Given the description of an element on the screen output the (x, y) to click on. 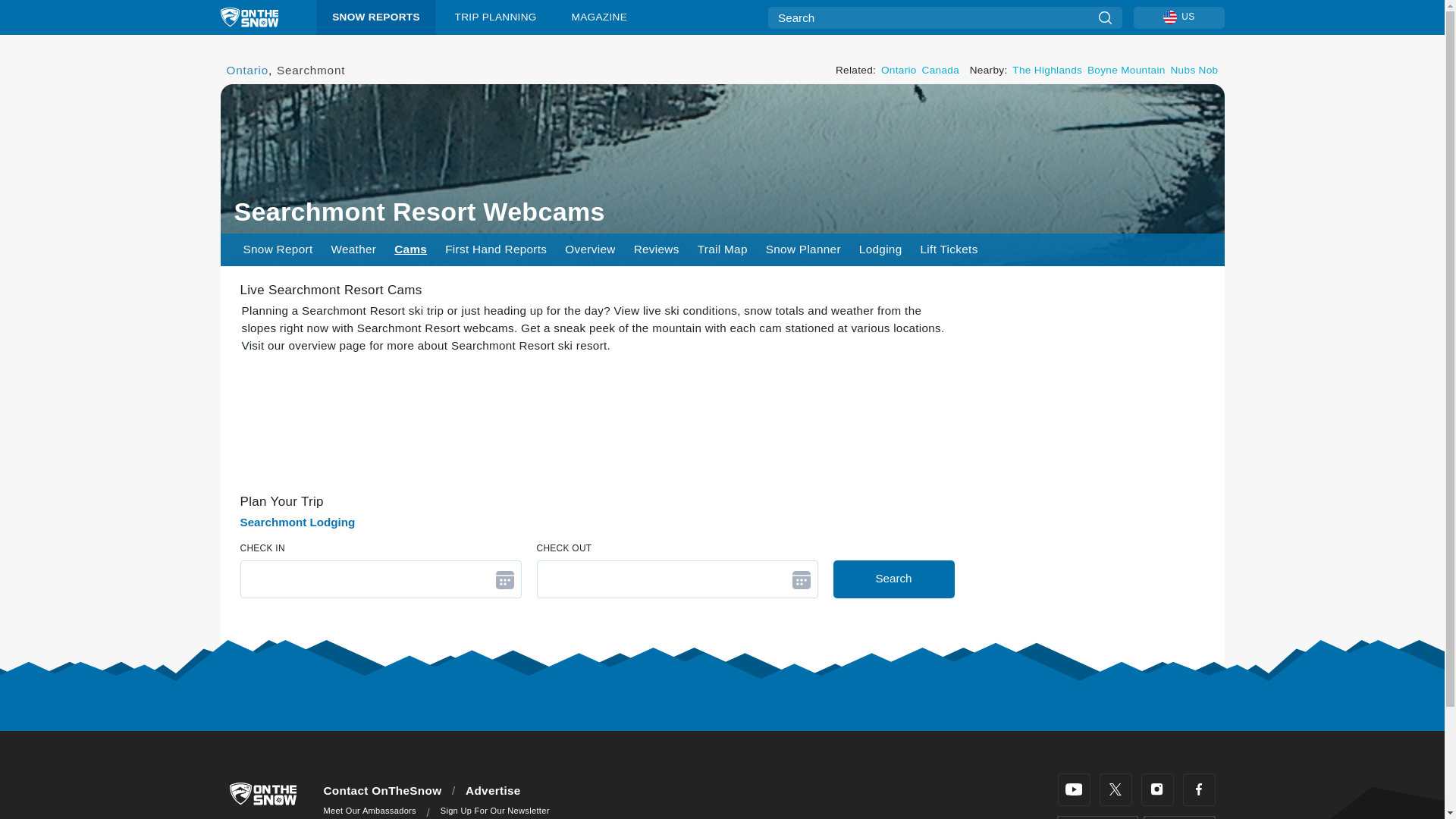
The Highlands (1046, 70)
Trail Map (722, 249)
Ontario (246, 69)
Snow Report (276, 249)
Weather (353, 249)
Nubs Nob (1193, 70)
Snow Planner (803, 249)
MAGAZINE (599, 17)
Lift Tickets (949, 249)
US (1169, 17)
First Hand Reports (495, 249)
US (1178, 16)
Search (1104, 16)
Cams (410, 249)
TRIP PLANNING (495, 17)
